Given the description of an element on the screen output the (x, y) to click on. 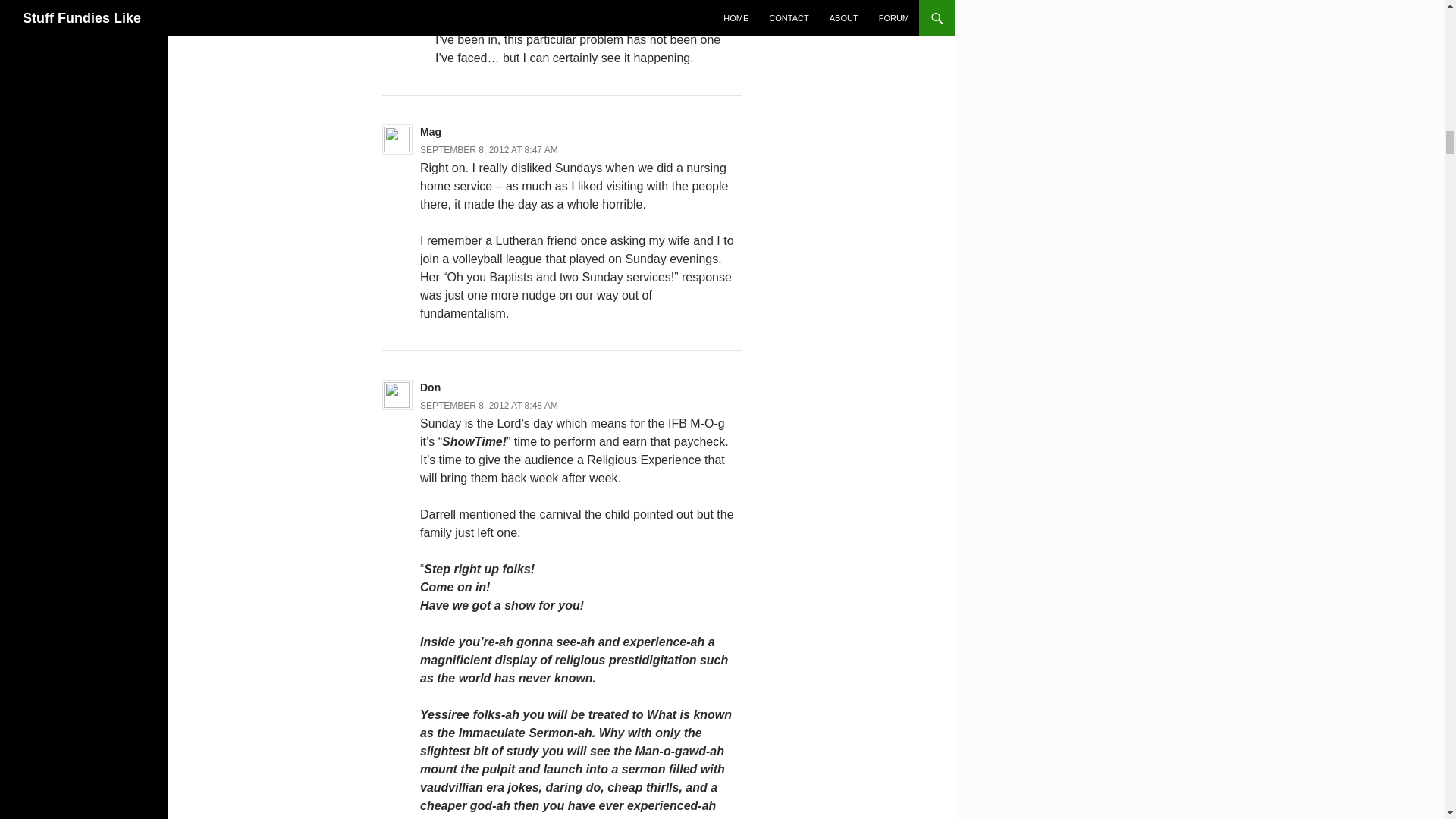
Don (430, 387)
SEPTEMBER 8, 2012 AT 8:47 AM (488, 149)
SEPTEMBER 8, 2012 AT 8:48 AM (488, 405)
